Given the description of an element on the screen output the (x, y) to click on. 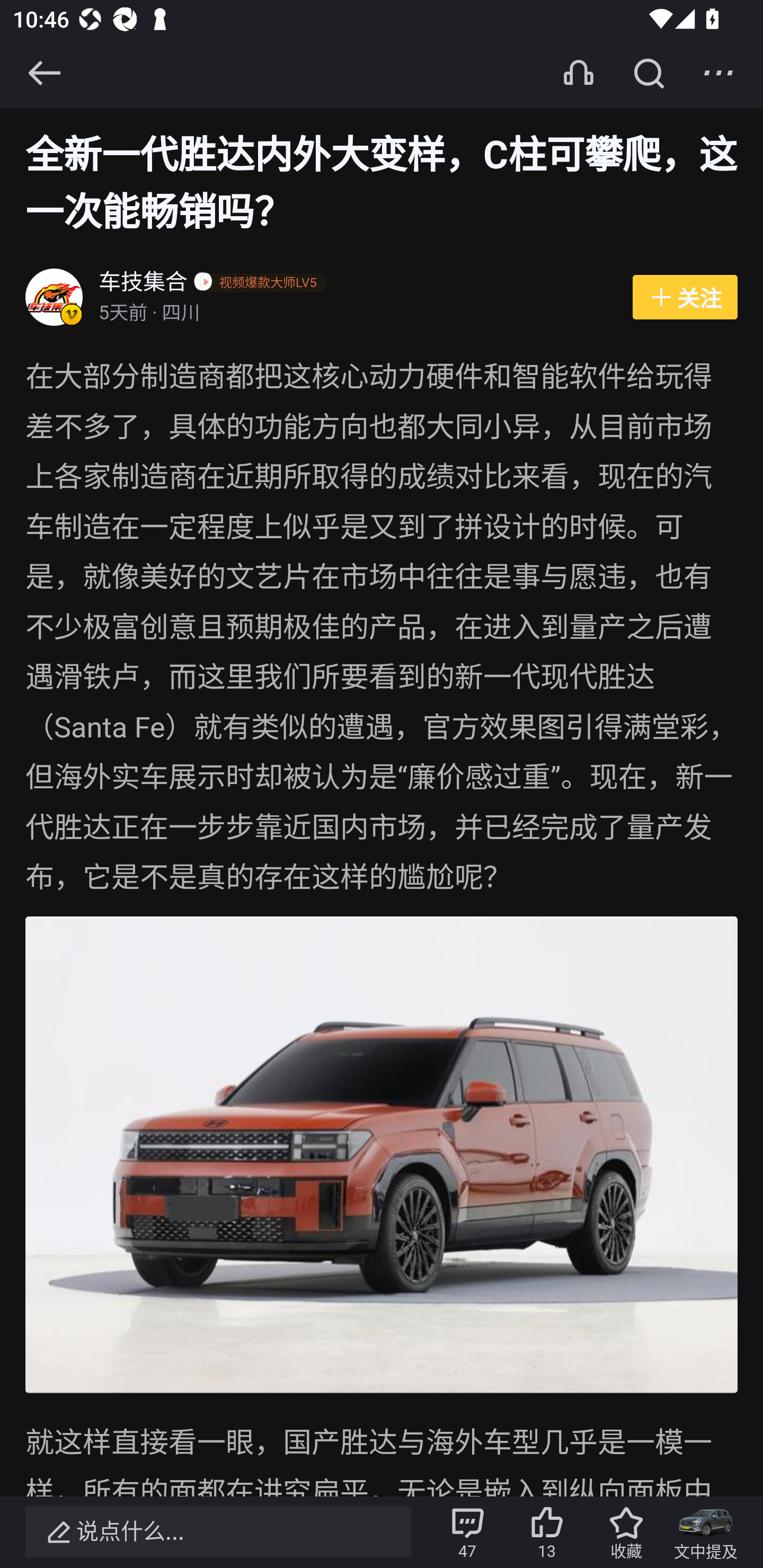
 (44, 72)
 (648, 72)
 (718, 72)
车技集合 (143, 283)
c9cb558bacd790f5b8d2c5f3a44a9243 视频爆款大师LV5 (263, 283)
关注 (684, 297)
5天前 · 四川 5天前  · 四川 (355, 314)
d_QKbCnP2pKKxzosxSBKUEeJ_h8 (381, 1154)
 47 (467, 1531)
13 (546, 1531)
收藏 (625, 1531)
文中提及 (705, 1531)
 说点什么... (218, 1531)
